Given the description of an element on the screen output the (x, y) to click on. 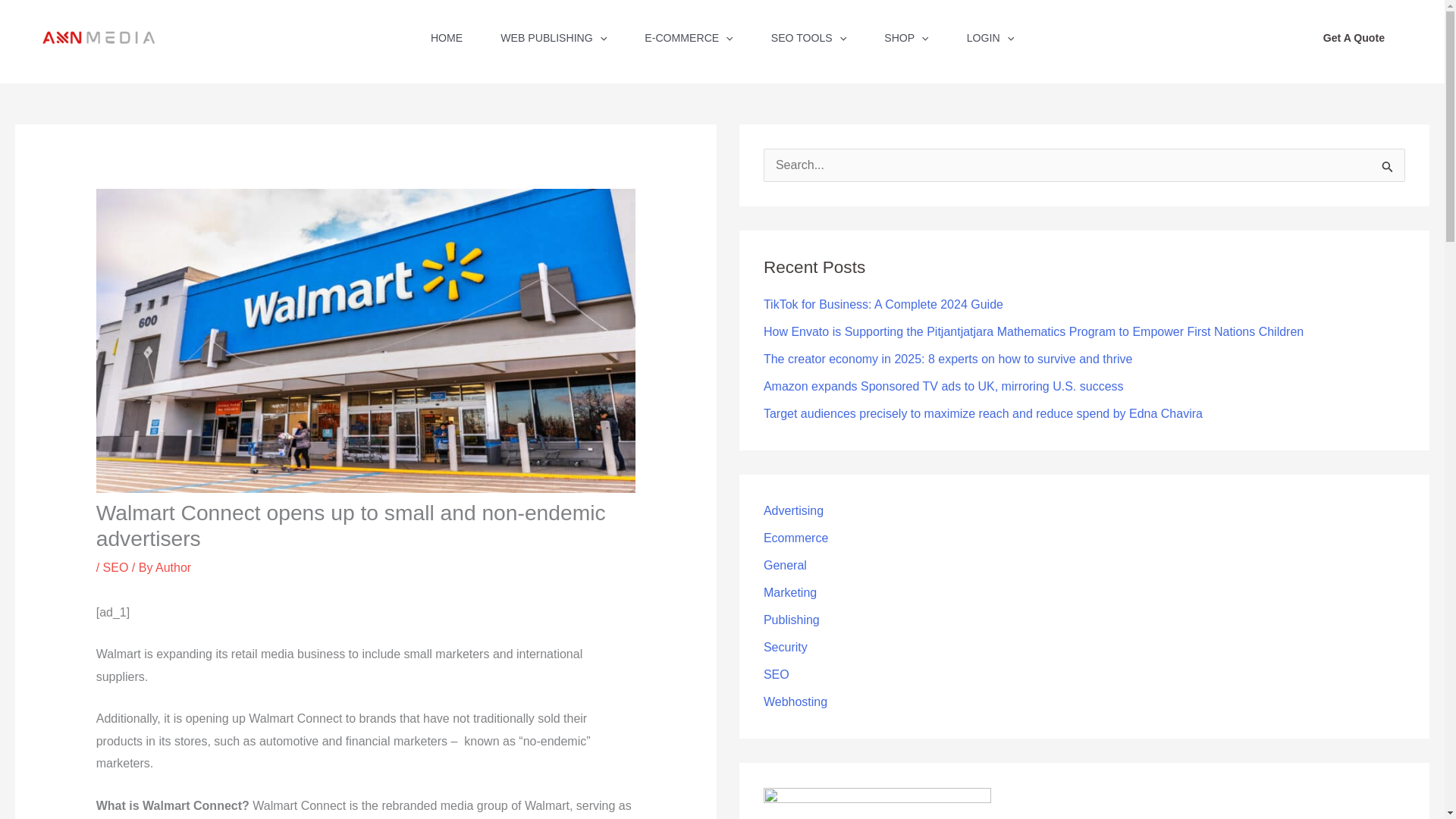
SEO TOOLS (809, 41)
E-COMMERCE (688, 41)
SHOP (905, 41)
SEO (116, 567)
Get A Quote (1353, 37)
View all posts by Author (172, 567)
LOGIN (989, 41)
WEB PUBLISHING (553, 41)
Author (172, 567)
